Given the description of an element on the screen output the (x, y) to click on. 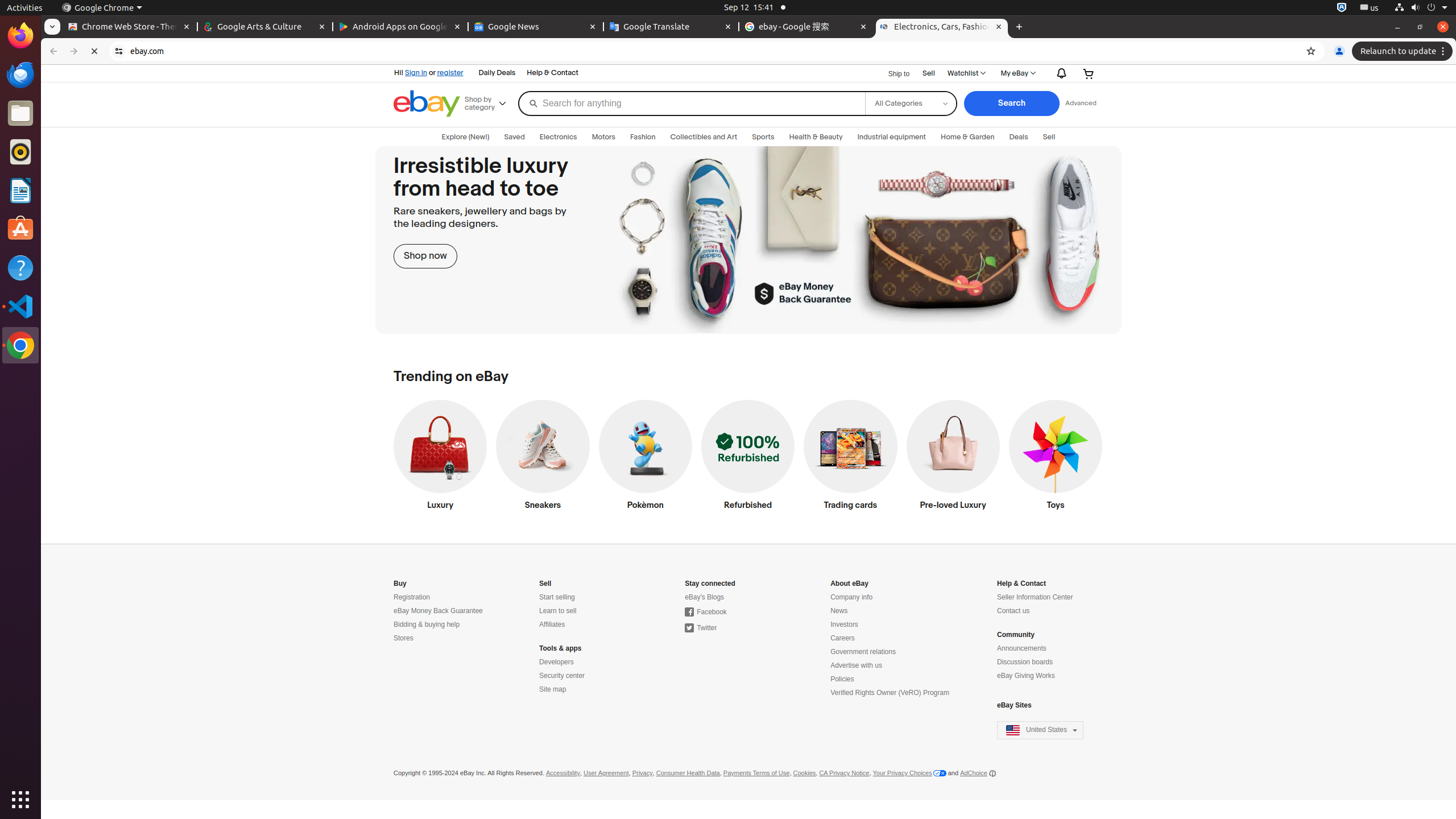
Company info Element type: link (851, 597)
Sports Element type: link (762, 136)
Files Element type: push-button (20, 113)
Rhythmbox Element type: push-button (20, 151)
Affiliates Element type: link (552, 624)
